Given the description of an element on the screen output the (x, y) to click on. 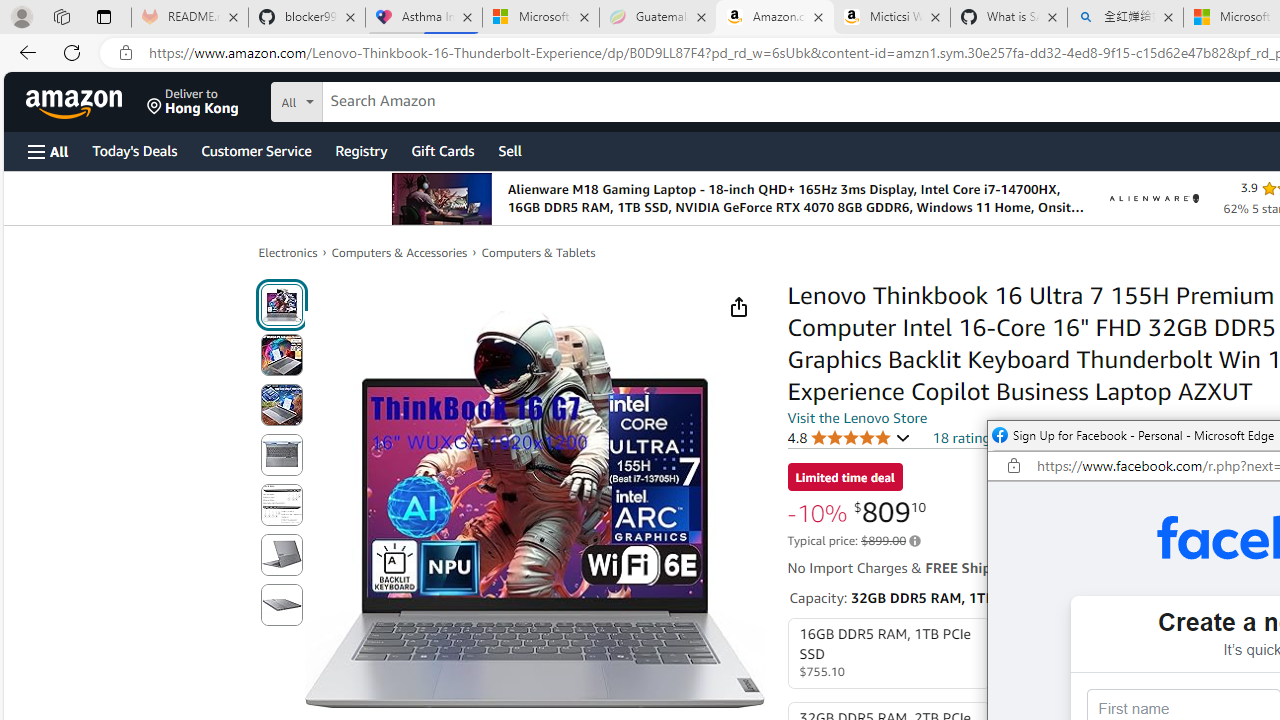
Computers & Tablets (538, 251)
Customer Service (256, 150)
Logo (1153, 198)
Electronics (287, 252)
Electronics (287, 251)
Search in (371, 99)
Computers & Accessories (399, 251)
Learn more about Amazon pricing and savings (914, 541)
